Given the description of an element on the screen output the (x, y) to click on. 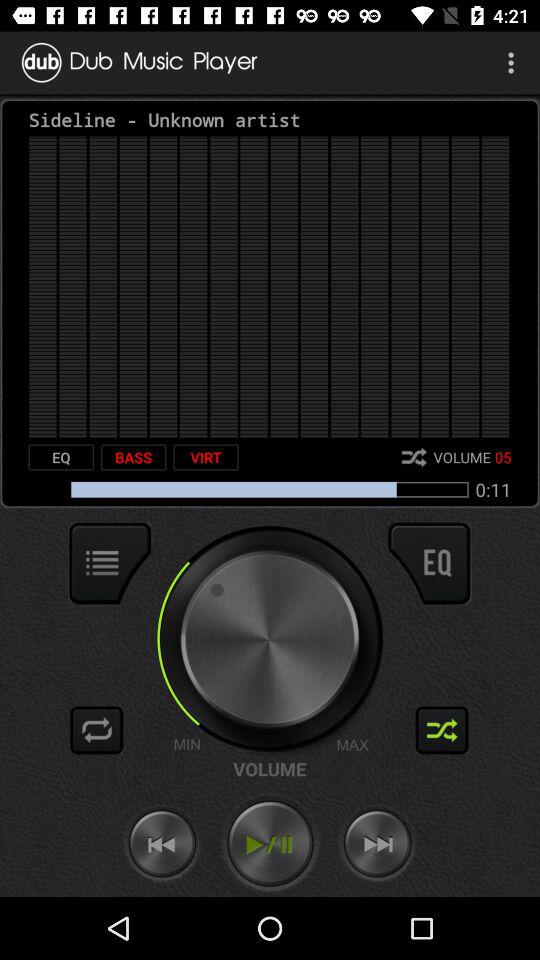
open item to the right of  bass  icon (205, 457)
